Given the description of an element on the screen output the (x, y) to click on. 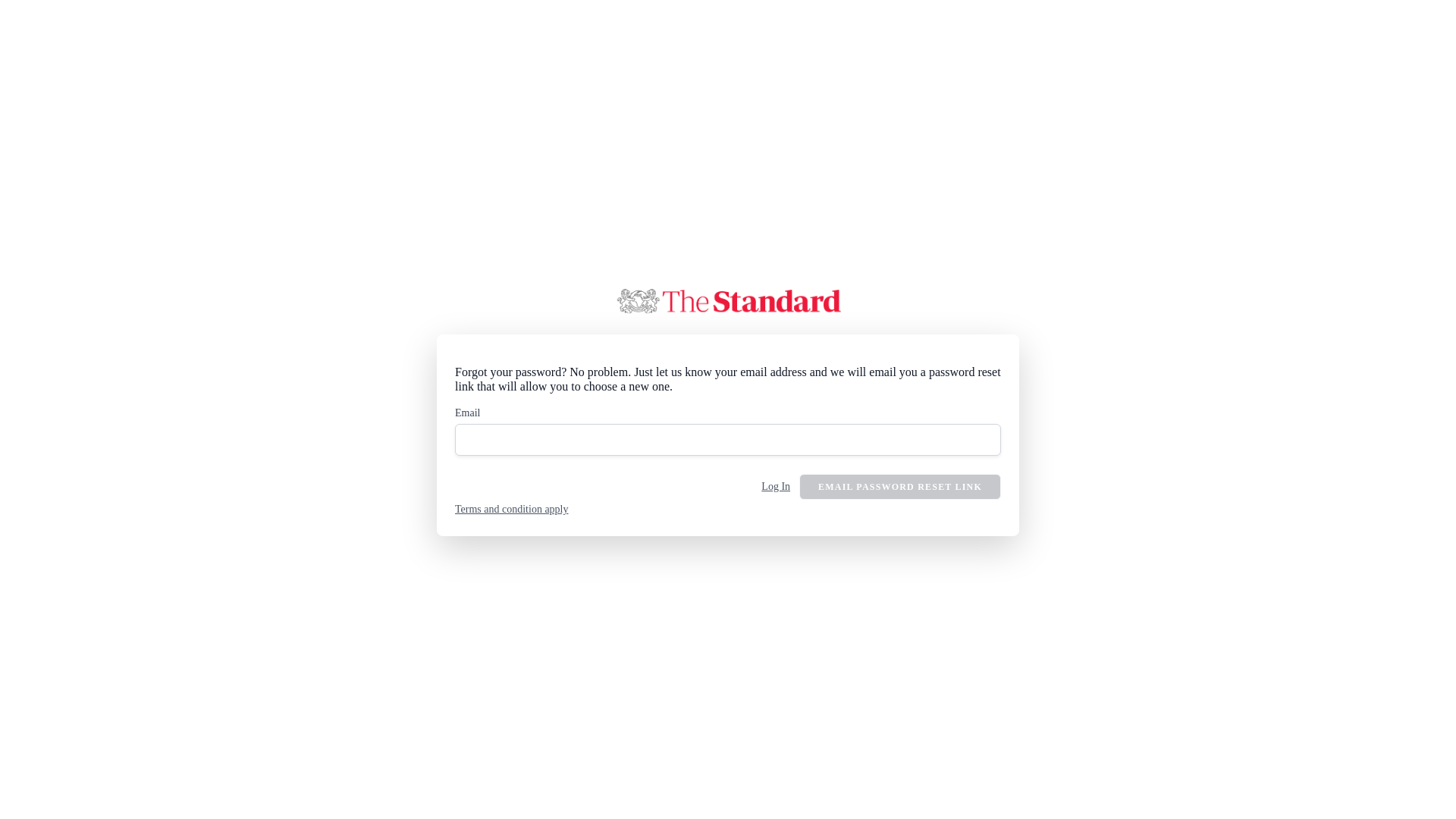
Terms and condition apply (511, 509)
EMAIL PASSWORD RESET LINK (900, 486)
Log In (775, 486)
